Given the description of an element on the screen output the (x, y) to click on. 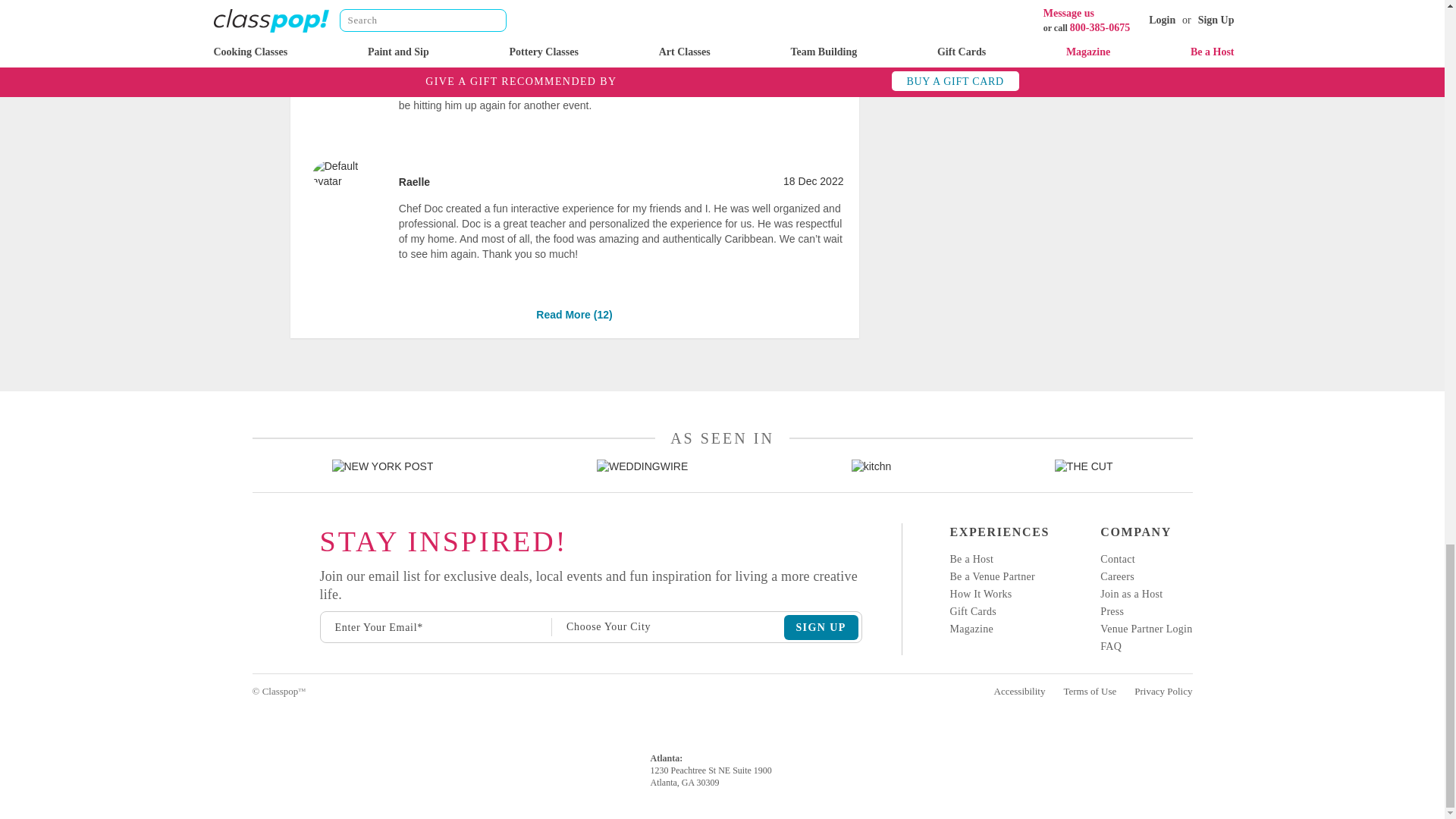
Pinterest (253, 640)
Twitter (253, 615)
Facebook (253, 563)
Yelp (253, 588)
Instagram (253, 537)
